Given the description of an element on the screen output the (x, y) to click on. 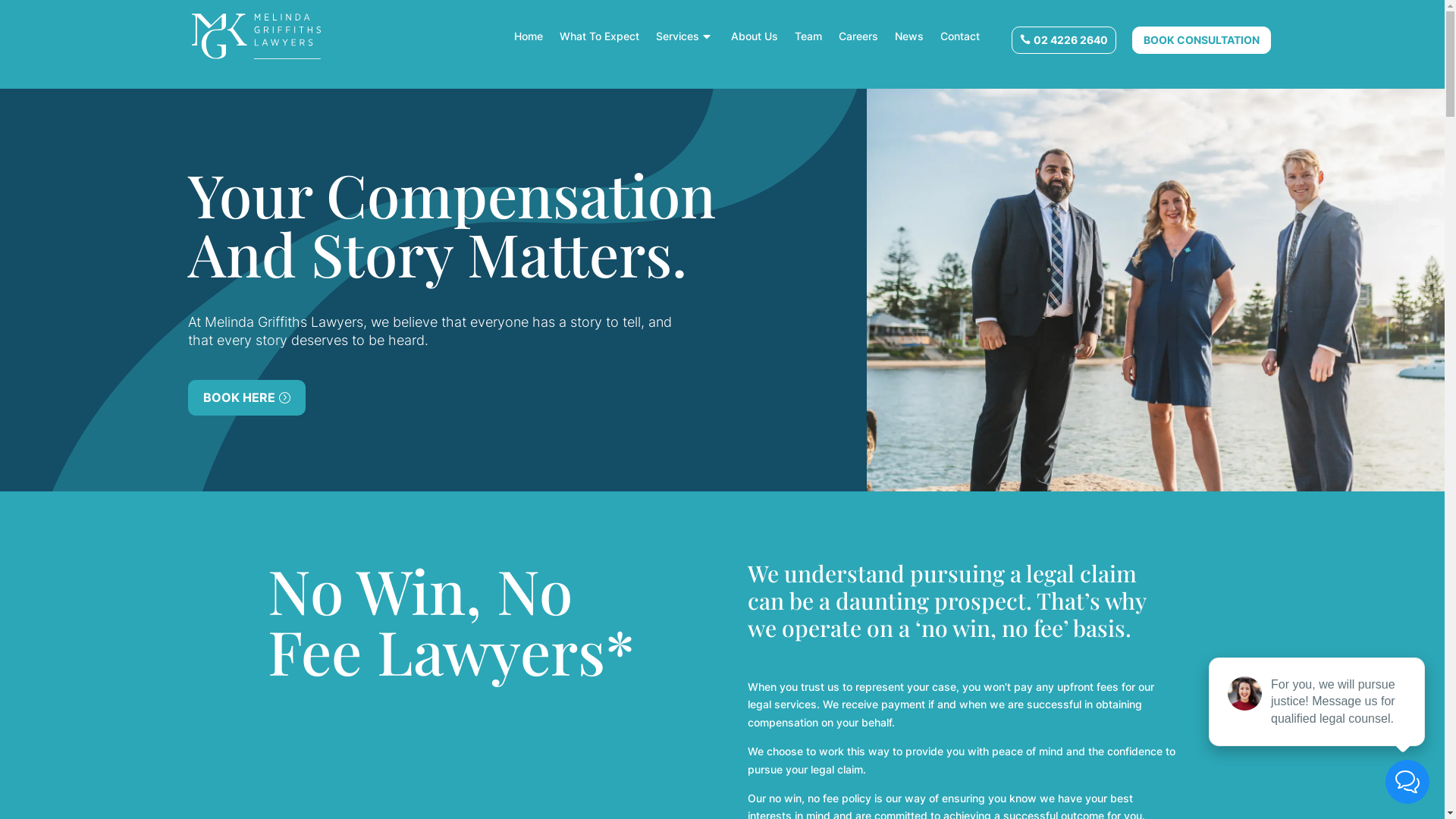
What To Expect Element type: text (599, 36)
Careers Element type: text (858, 36)
Home Element type: text (528, 36)
02 4226 2640 Element type: text (1063, 39)
News Element type: text (908, 36)
About Us Element type: text (754, 36)
Team Element type: text (808, 36)
BOOK HERE Element type: text (246, 397)
Contact Element type: text (959, 36)
Services Element type: text (684, 36)
BOOK CONSULTATION Element type: text (1201, 39)
